Given the description of an element on the screen output the (x, y) to click on. 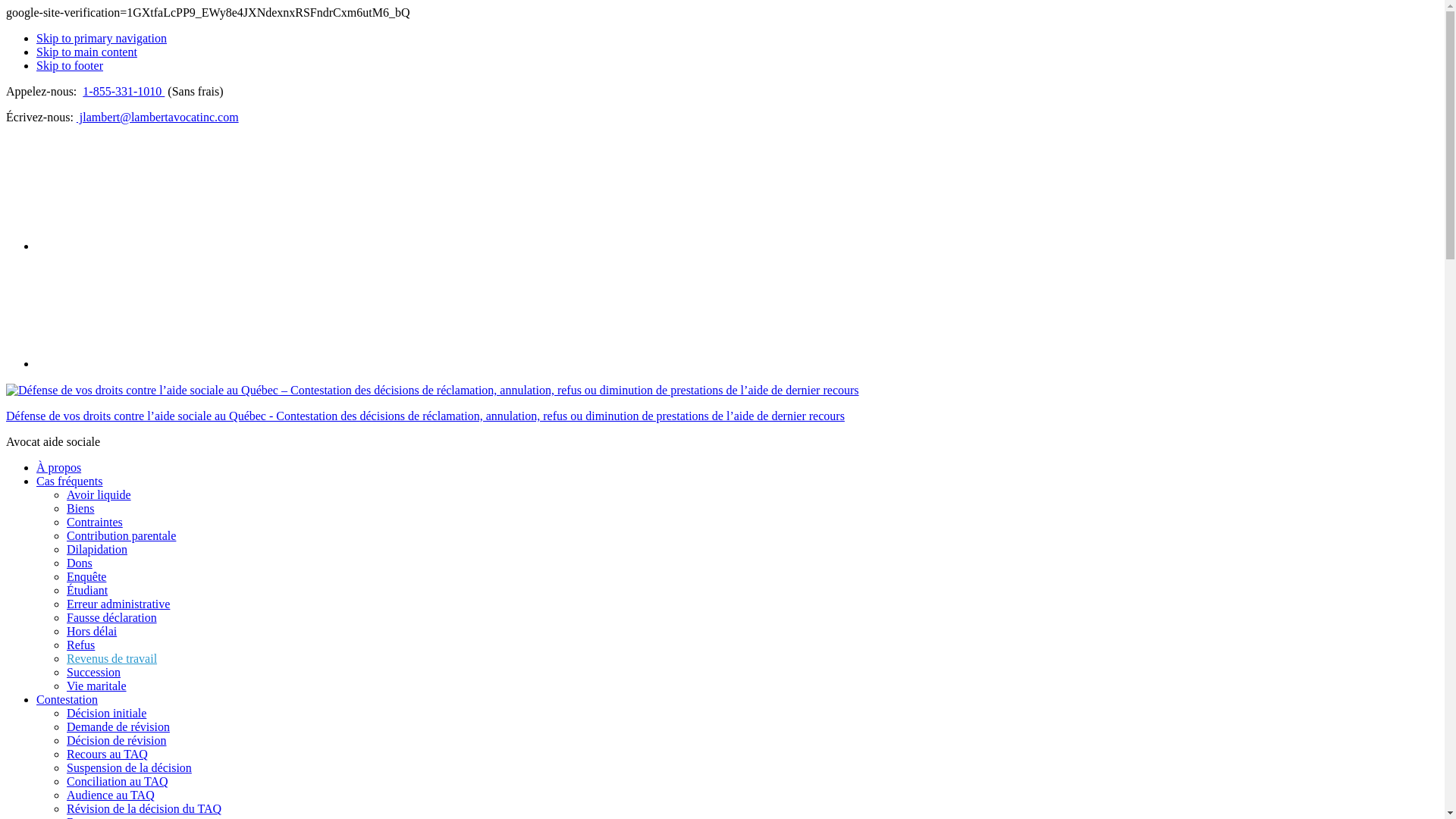
jlambert@lambertavocatinc.com Element type: text (157, 116)
Contraintes Element type: text (94, 521)
Vie maritale Element type: text (96, 685)
Contribution parentale Element type: text (120, 535)
Skip to footer Element type: text (69, 65)
Dons Element type: text (79, 562)
LinkedIn Element type: text (157, 362)
Audience au TAQ Element type: text (110, 794)
Skip to main content Element type: text (86, 51)
Facebook Element type: text (157, 244)
1-855-331-1010 Element type: text (123, 90)
Succession Element type: text (93, 671)
Recours au TAQ Element type: text (106, 753)
Erreur administrative Element type: text (117, 603)
Refus Element type: text (80, 644)
Dilapidation Element type: text (96, 548)
Contestation Element type: text (66, 699)
Conciliation au TAQ Element type: text (117, 781)
Skip to primary navigation Element type: text (101, 37)
Biens Element type: text (80, 508)
Avoir liquide Element type: text (98, 494)
Revenus de travail Element type: text (111, 658)
